Given the description of an element on the screen output the (x, y) to click on. 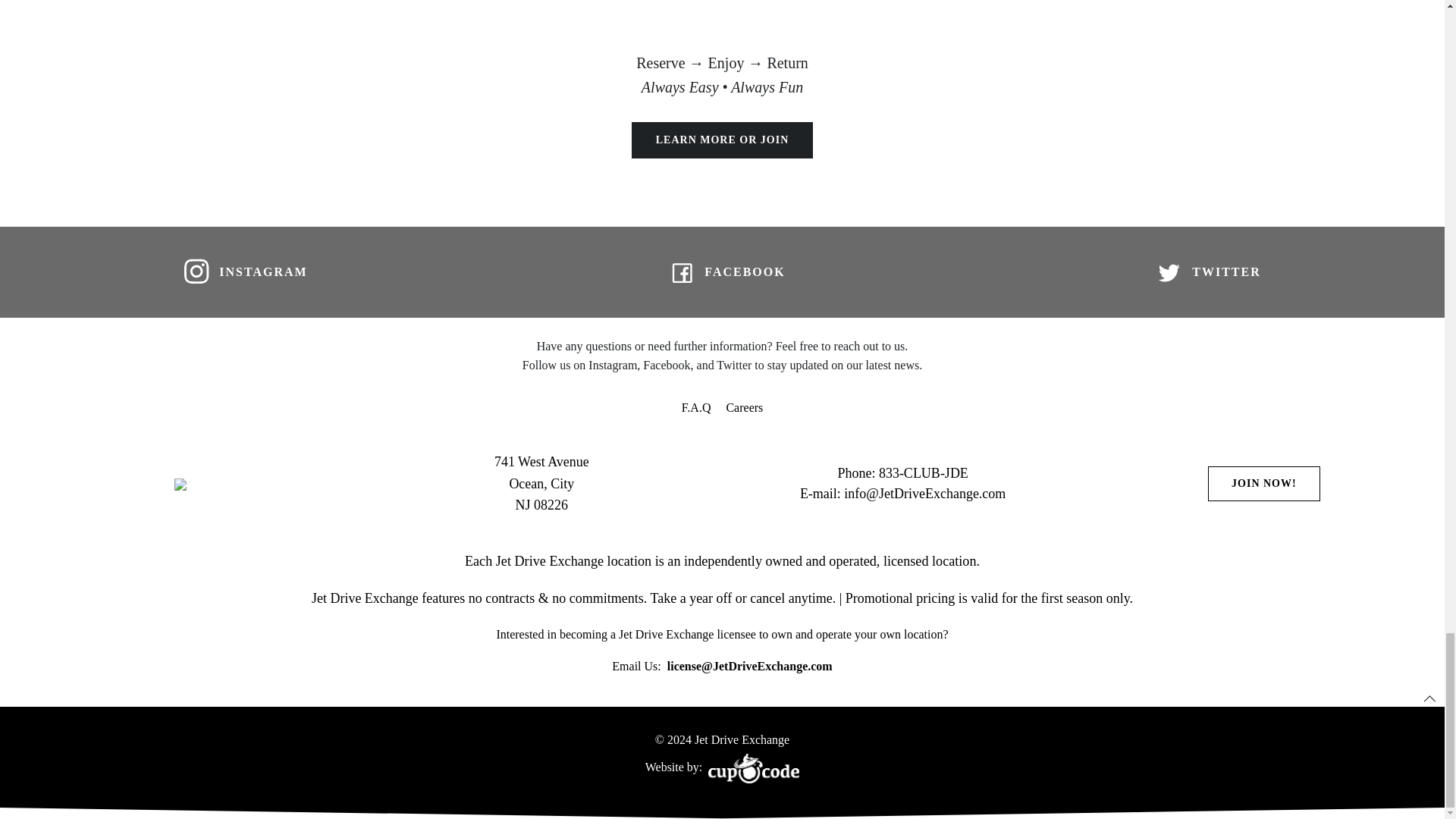
JOIN NOW! (1264, 483)
FACEBOOK (721, 272)
Phone: 833-CLUB-JDE (902, 473)
Careers (743, 407)
INSTAGRAM (240, 272)
LEARN MORE OR JOIN (722, 140)
TWITTER (1203, 272)
F.A.Q (696, 407)
